Given the description of an element on the screen output the (x, y) to click on. 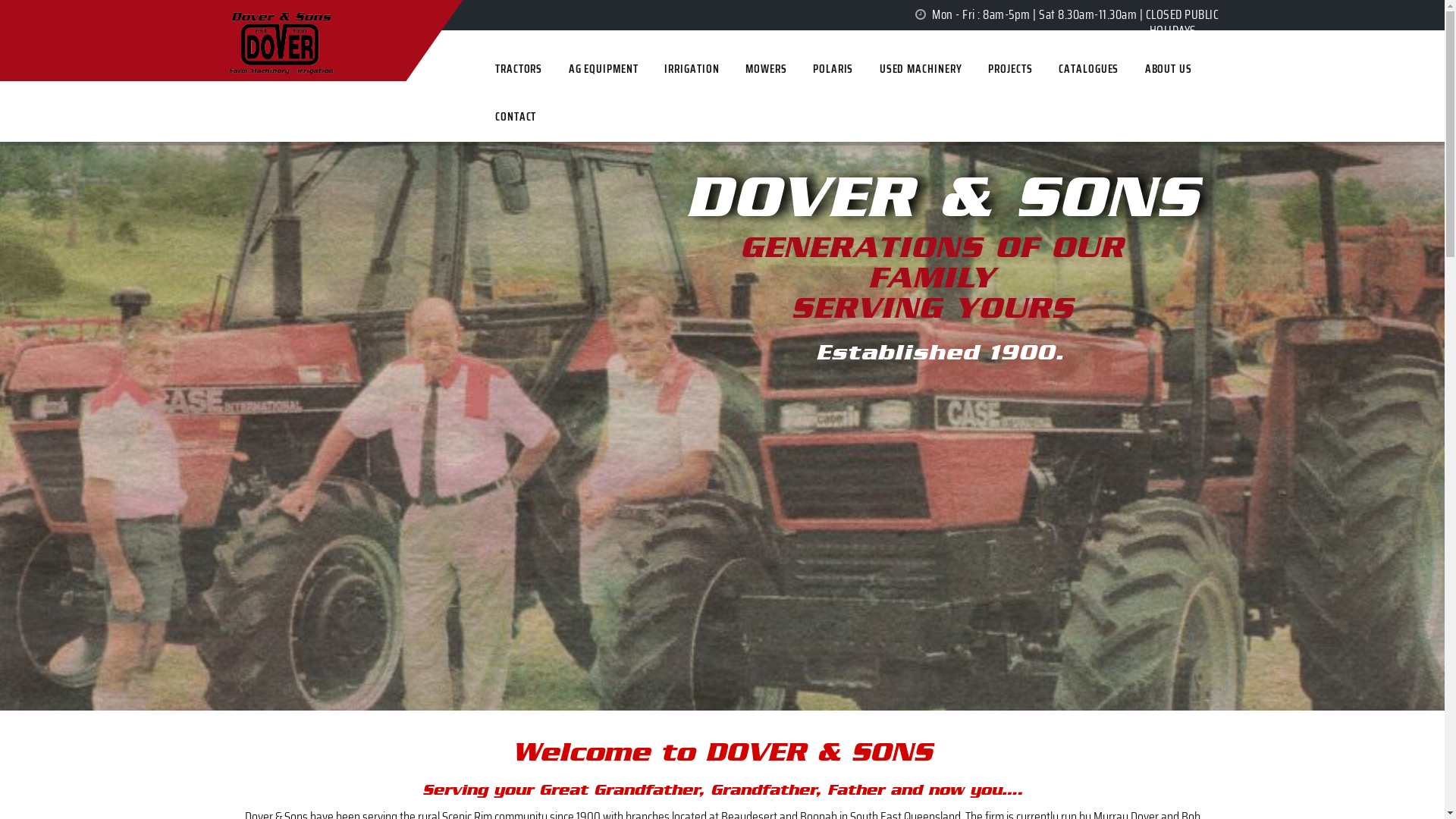
AG EQUIPMENT Element type: text (634, 72)
CATALOGUES Element type: text (1145, 72)
IRRIGATION Element type: text (727, 72)
POLARIS Element type: text (876, 72)
TRACTORS Element type: text (545, 72)
USED MACHINERY Element type: text (969, 72)
PROJECTS Element type: text (1063, 72)
MOWERS Element type: text (806, 72)
CONTACT Element type: text (542, 123)
Dover and Sons Element type: hover (282, 4)
ABOUT US Element type: text (1229, 72)
